Given the description of an element on the screen output the (x, y) to click on. 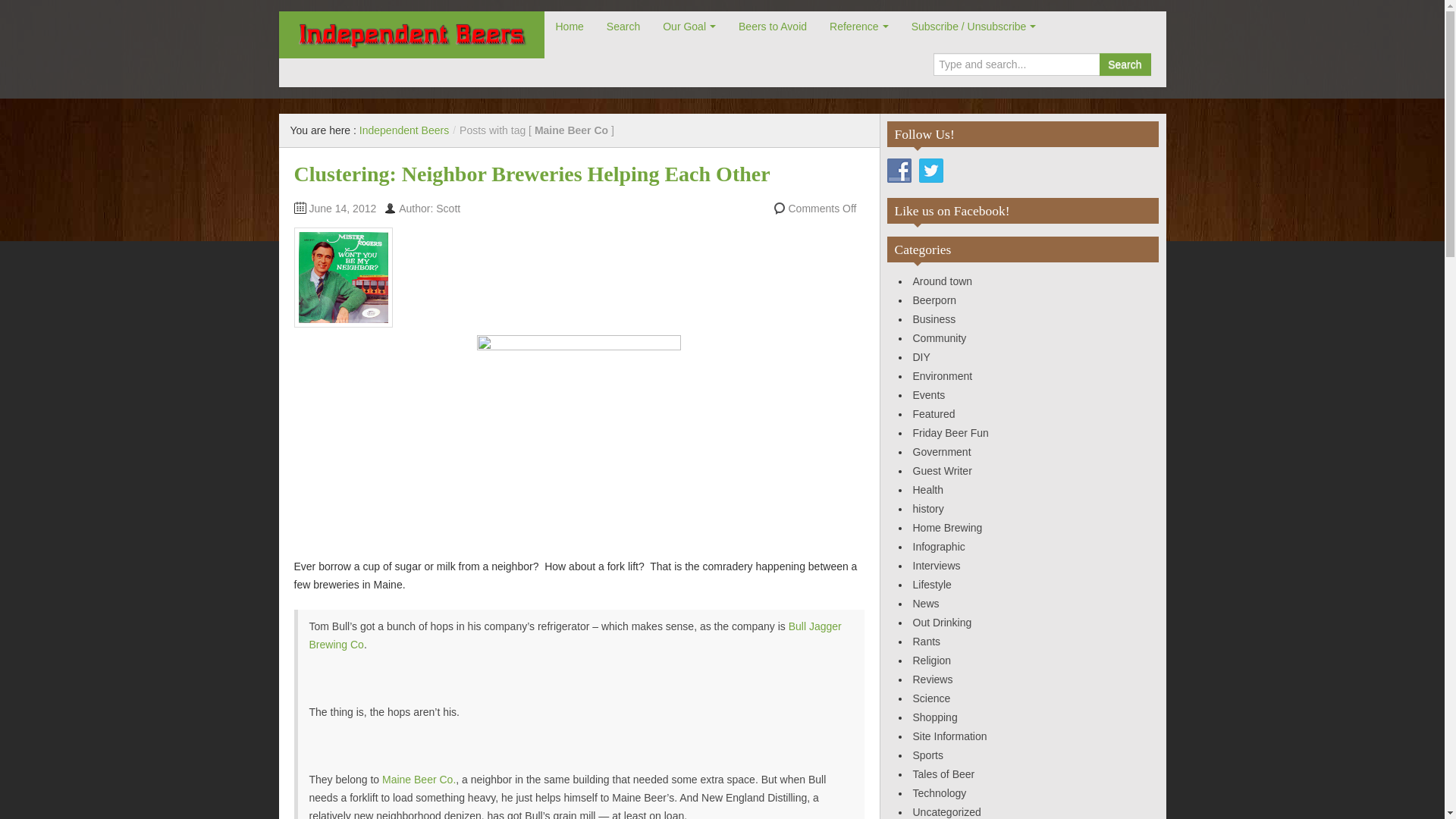
Follow Us on Facebook (898, 170)
Clustering: Neighbor Breweries Helping Each Other (532, 173)
Environment (942, 376)
Beerporn (934, 300)
Independent Beers (411, 34)
Home (569, 26)
Community (939, 337)
Around town (942, 281)
Follow Us on Twitter (930, 170)
neighbor (579, 438)
